Given the description of an element on the screen output the (x, y) to click on. 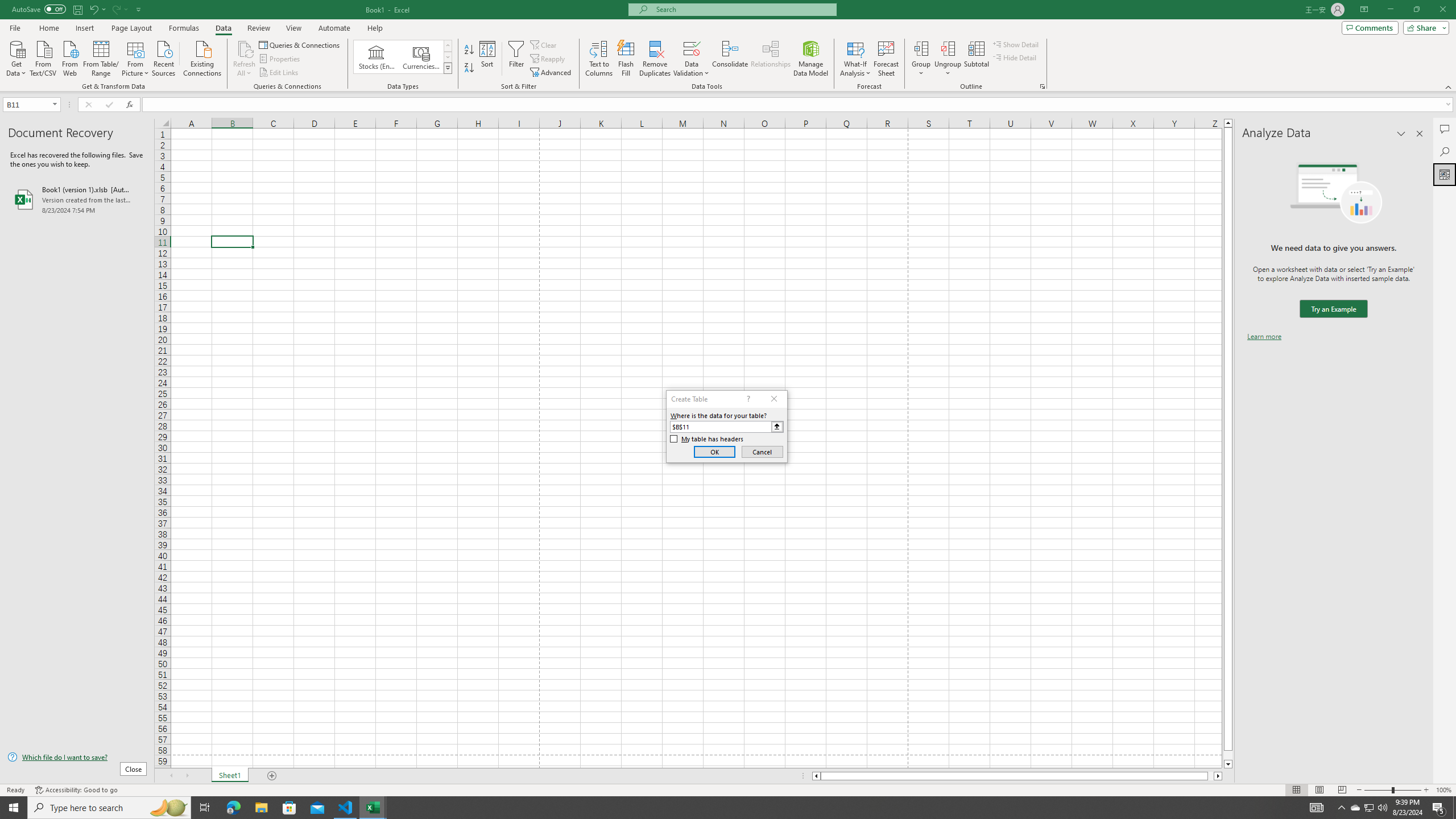
Class: MsoCommandBar (728, 45)
Advanced... (551, 72)
Sort Z to A (469, 67)
Which file do I want to save? (77, 757)
Class: NetUIImage (447, 68)
Automate (334, 28)
Forecast Sheet (885, 58)
Filter (515, 58)
